Given the description of an element on the screen output the (x, y) to click on. 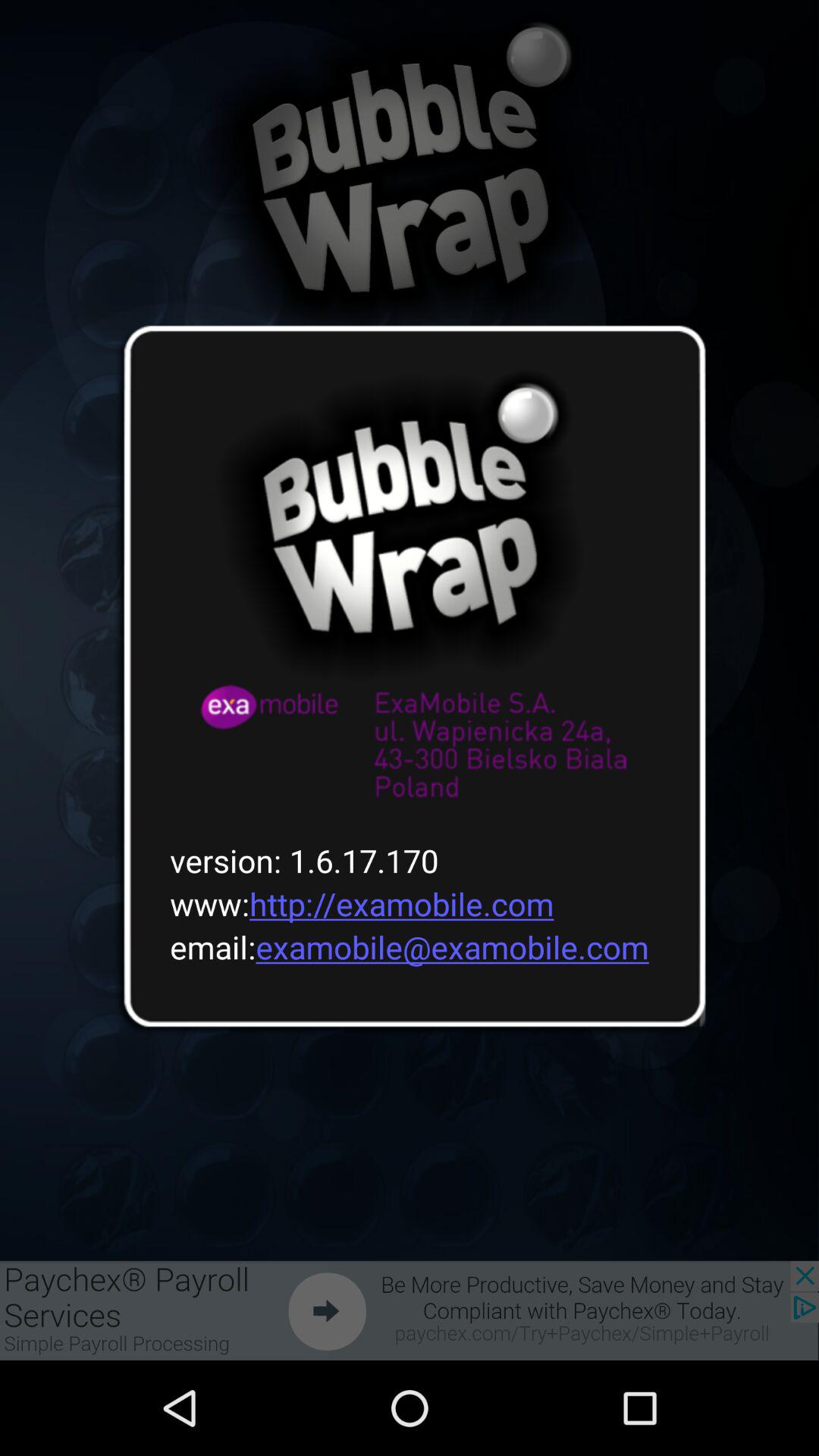
press item above the email examobile examobile (351, 903)
